Given the description of an element on the screen output the (x, y) to click on. 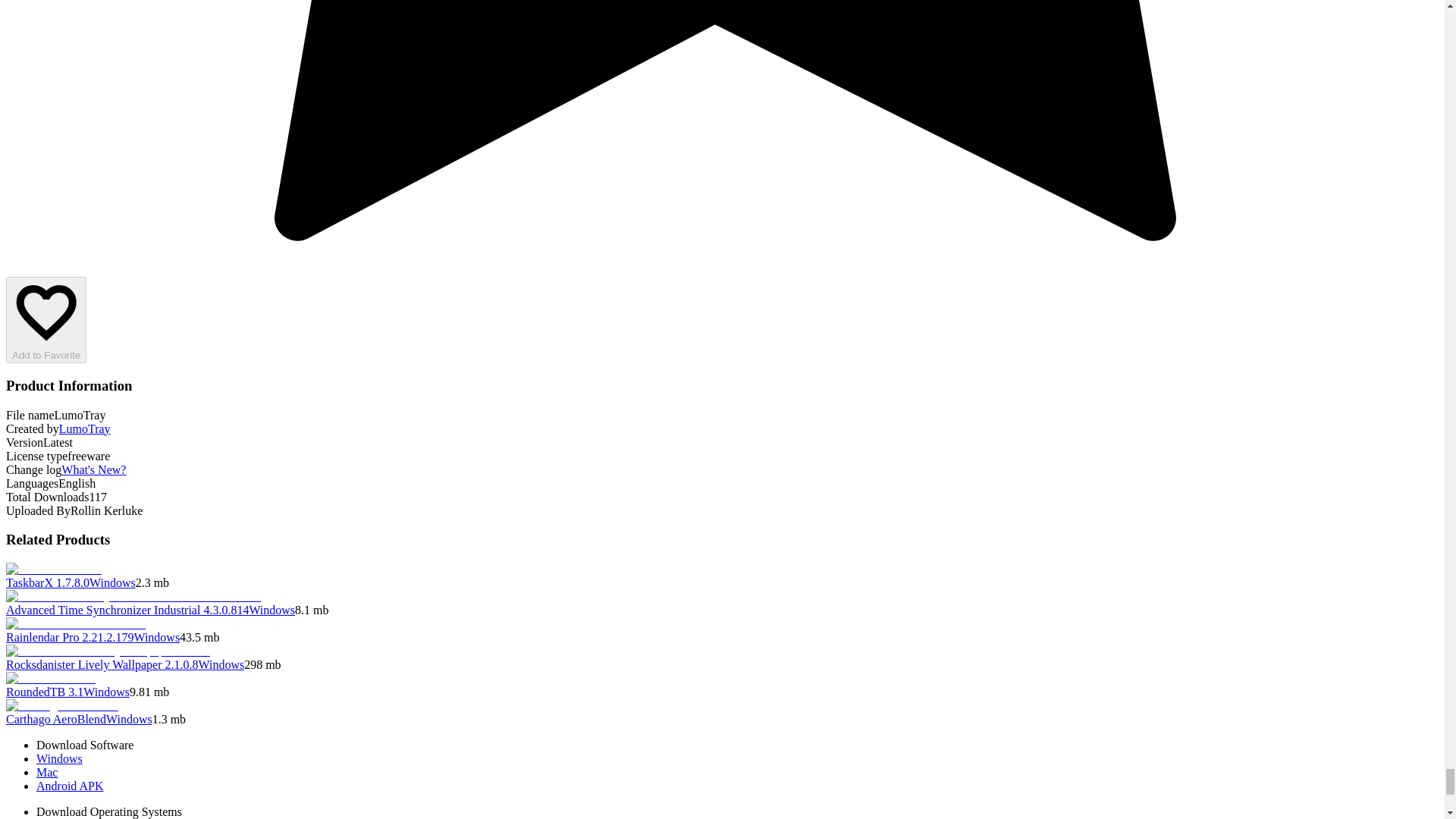
TaskbarX 1.7.8.0 (46, 582)
Windows (156, 636)
RoundedTB 3.1 (43, 691)
Carthago AeroBlend (55, 718)
Windows (59, 758)
Windows (221, 664)
Advanced Time Synchronizer Industrial 4.3.0.814 (126, 609)
Windows (111, 582)
Windows (105, 691)
Android APK (69, 785)
Mac (47, 771)
Windows (129, 718)
LumoTray (84, 428)
Windows (271, 609)
Add to Favorite (45, 319)
